Given the description of an element on the screen output the (x, y) to click on. 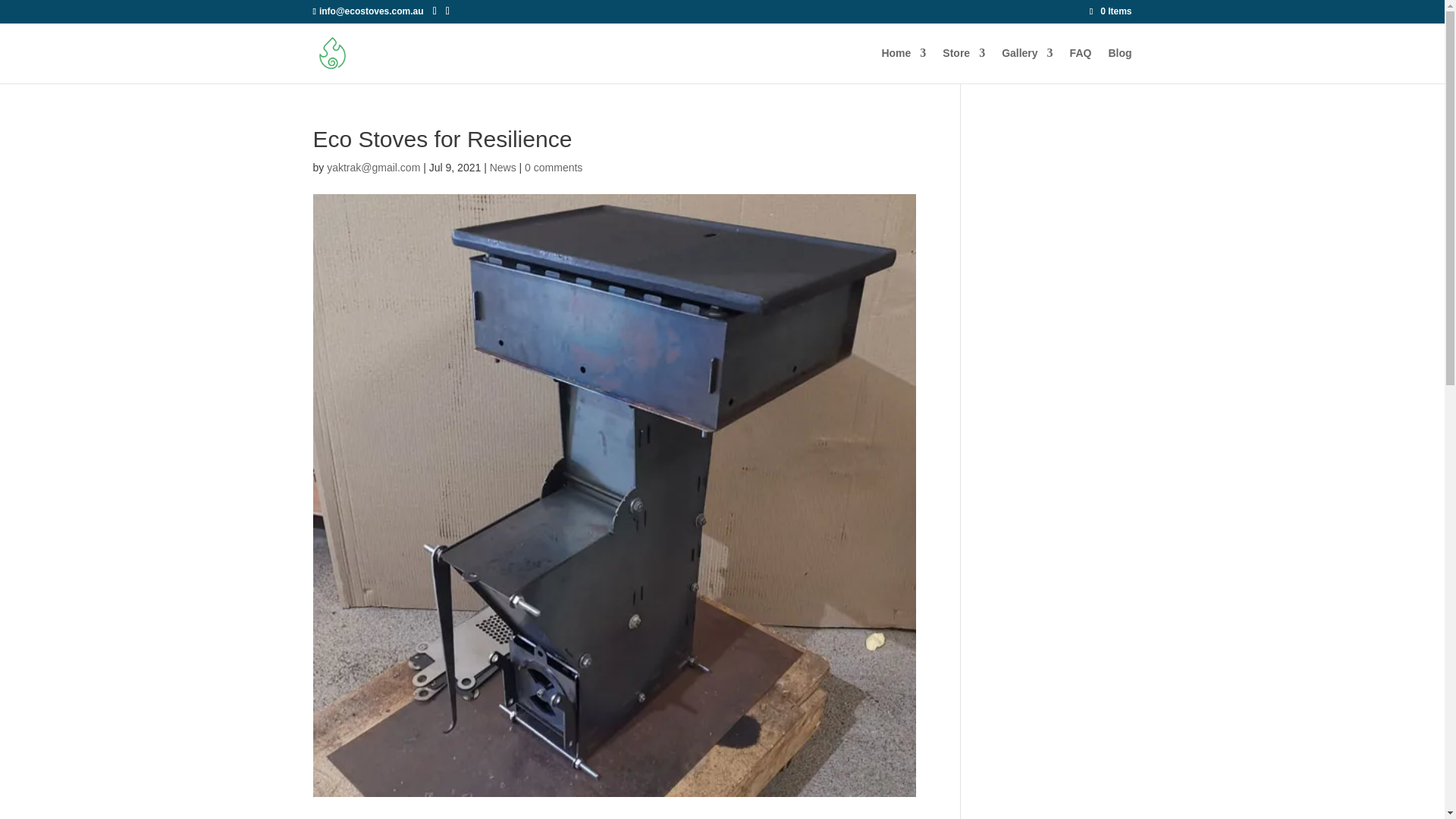
Gallery (1026, 65)
News (502, 167)
0 Items (1110, 10)
0 comments (553, 167)
Store (963, 65)
Home (903, 65)
